Given the description of an element on the screen output the (x, y) to click on. 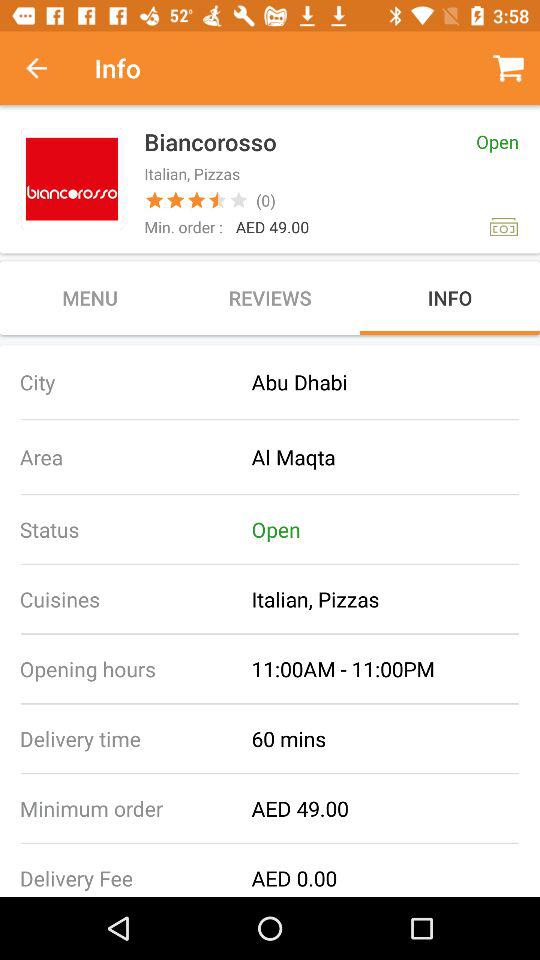
press the item next to info icon (47, 68)
